Given the description of an element on the screen output the (x, y) to click on. 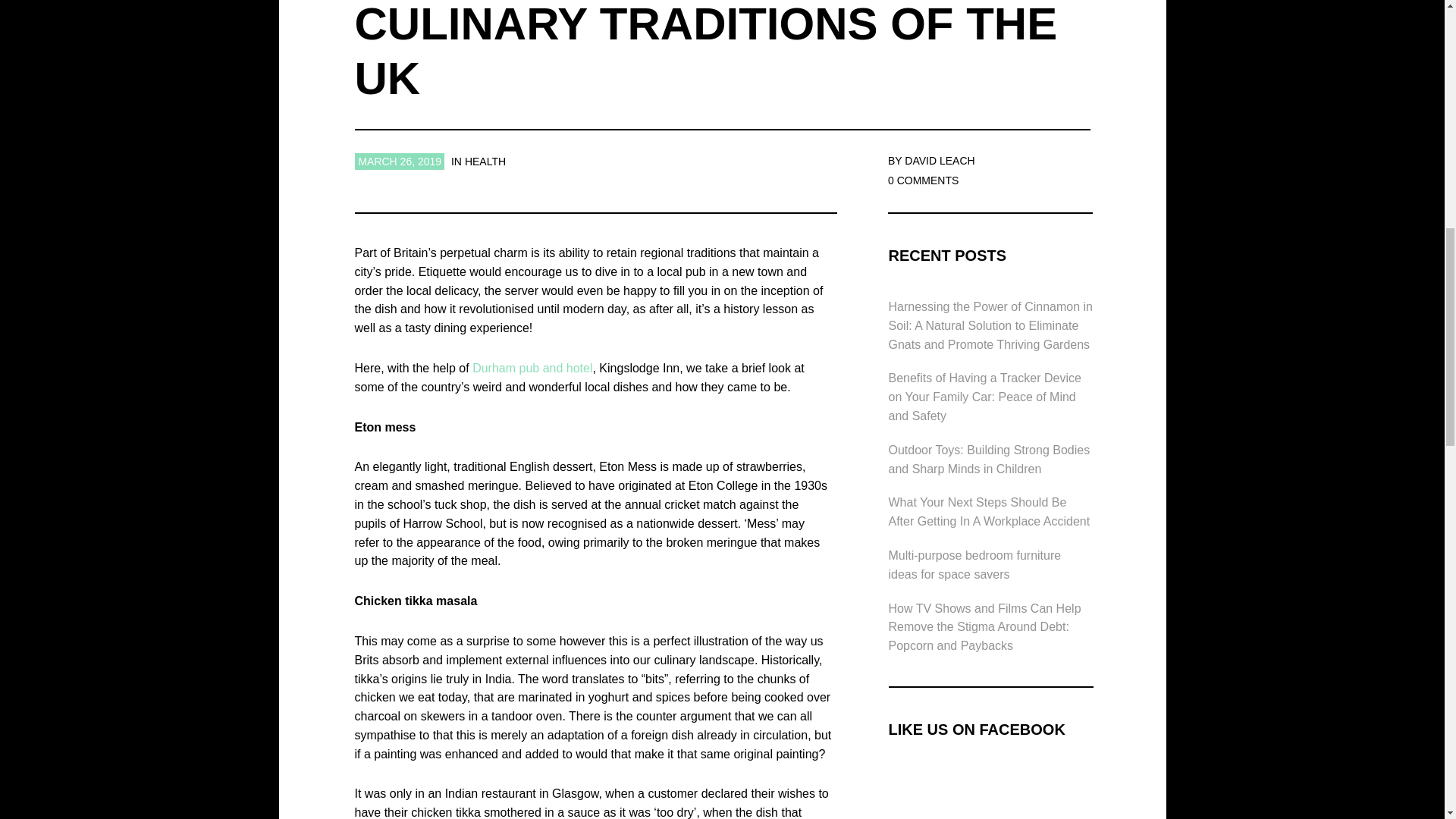
Durham pub and hotel (531, 367)
DAVID LEACH (939, 160)
Multi-purpose bedroom furniture ideas for space savers (974, 564)
HEALTH (484, 161)
